Given the description of an element on the screen output the (x, y) to click on. 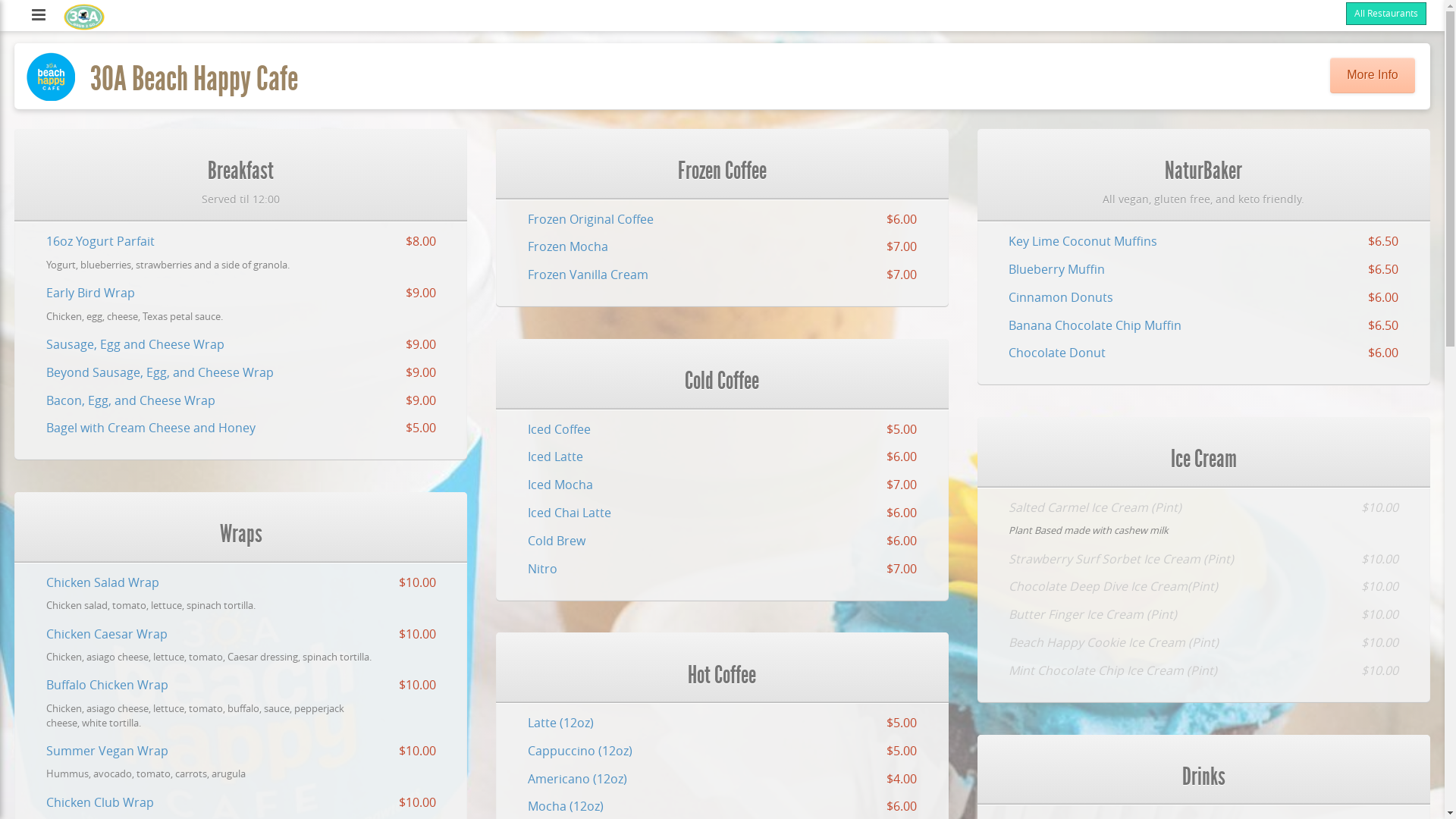
Frozen Vanilla Cream
$7.00 Element type: text (721, 278)
Frozen Original Coffee
$6.00 Element type: text (721, 223)
Latte (12oz)
$5.00 Element type: text (721, 727)
Mint Chocolate Chip Ice Cream (Pint)
$10.00 Element type: text (1203, 674)
Iced Chai Latte
$6.00 Element type: text (721, 517)
All Restaurants Element type: text (1386, 13)
Strawberry Surf Sorbet Ice Cream (Pint)
$10.00 Element type: text (1203, 563)
Frozen Mocha
$7.00 Element type: text (721, 250)
Bacon, Egg, and Cheese Wrap
$9.00 Element type: text (240, 404)
Butter Finger Ice Cream (Pint)
$10.00 Element type: text (1203, 618)
30aGrub2go Element type: text (83, 16)
More Info Element type: text (1372, 75)
Nitro
$7.00 Element type: text (721, 573)
Chocolate Donut
$6.00 Element type: text (1203, 357)
Cold Brew
$6.00 Element type: text (721, 545)
Iced Mocha
$7.00 Element type: text (721, 489)
Chocolate Deep Dive Ice Cream(Pint)
$10.00 Element type: text (1203, 590)
Key Lime Coconut Muffins
$6.50 Element type: text (1203, 245)
Cappuccino (12oz)
$5.00 Element type: text (721, 755)
Beach Happy Cookie Ice Cream (Pint)
$10.00 Element type: text (1203, 646)
Sausage, Egg and Cheese Wrap
$9.00 Element type: text (240, 348)
Americano (12oz)
$4.00 Element type: text (721, 783)
Iced Latte
$6.00 Element type: text (721, 460)
Cinnamon Donuts
$6.00 Element type: text (1203, 301)
Banana Chocolate Chip Muffin
$6.50 Element type: text (1203, 329)
Blueberry Muffin
$6.50 Element type: text (1203, 273)
Beyond Sausage, Egg, and Cheese Wrap
$9.00 Element type: text (240, 376)
Bagel with Cream Cheese and Honey
$5.00 Element type: text (240, 432)
Iced Coffee
$5.00 Element type: text (721, 433)
